Given the description of an element on the screen output the (x, y) to click on. 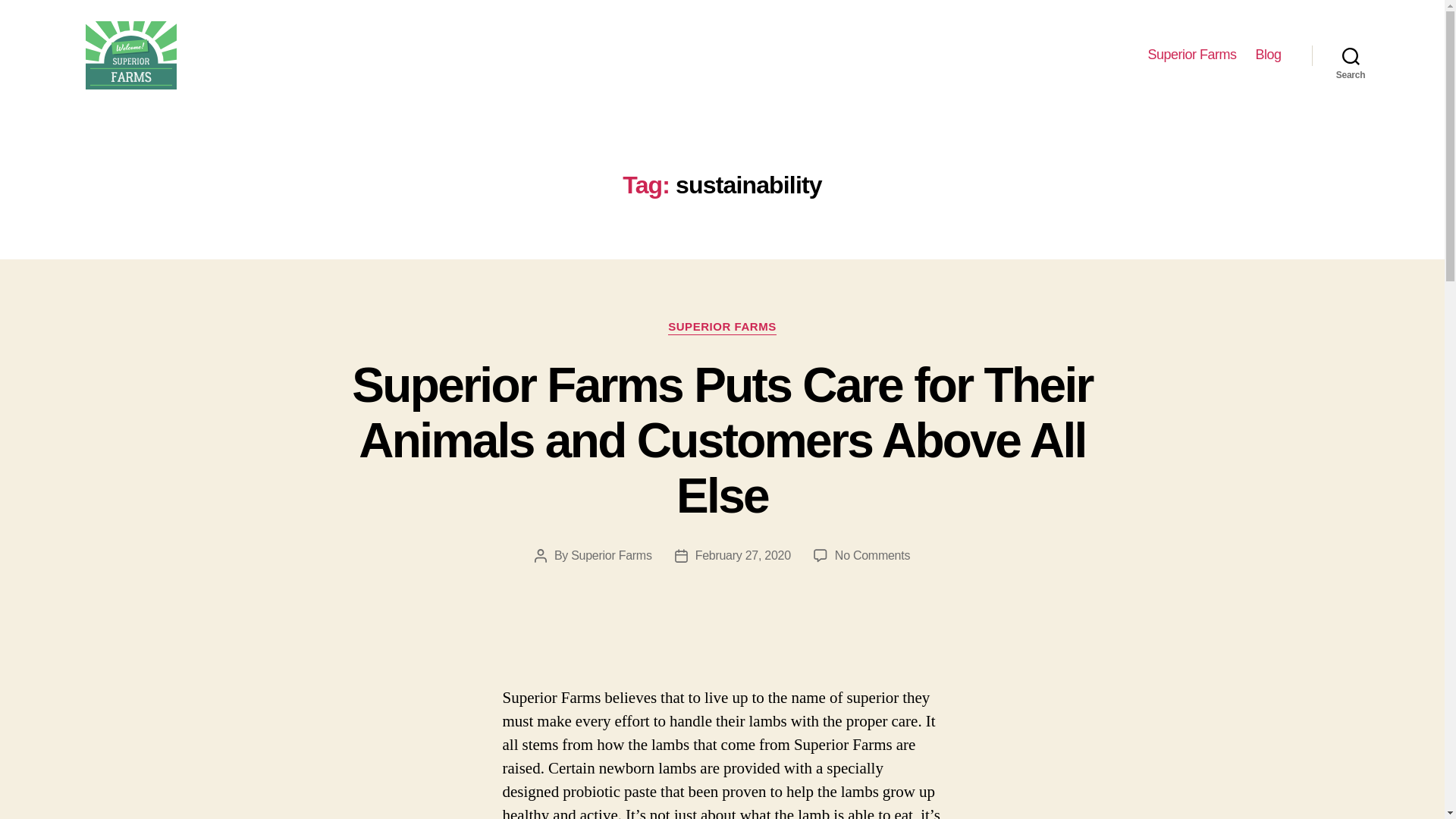
SUPERIOR FARMS (722, 327)
Superior Farms (1191, 54)
Superior Farms (610, 554)
Blog (1268, 54)
February 27, 2020 (742, 554)
Search (1350, 55)
